Given the description of an element on the screen output the (x, y) to click on. 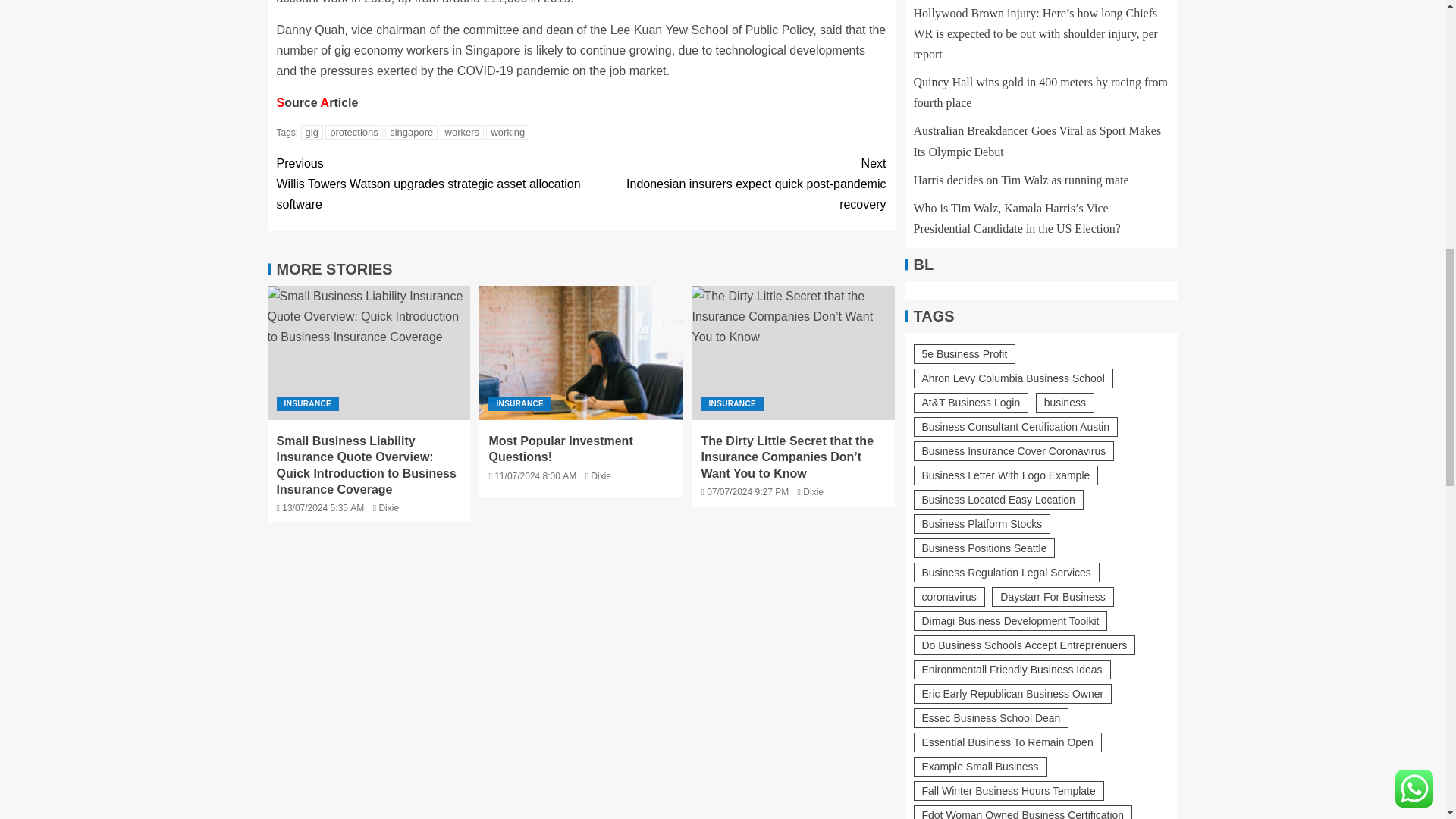
Dixie (601, 475)
singapore (411, 132)
working (507, 132)
Most Popular Investment Questions! (580, 352)
Most Popular Investment Questions! (559, 448)
Source Article (317, 102)
workers (462, 132)
